Given the description of an element on the screen output the (x, y) to click on. 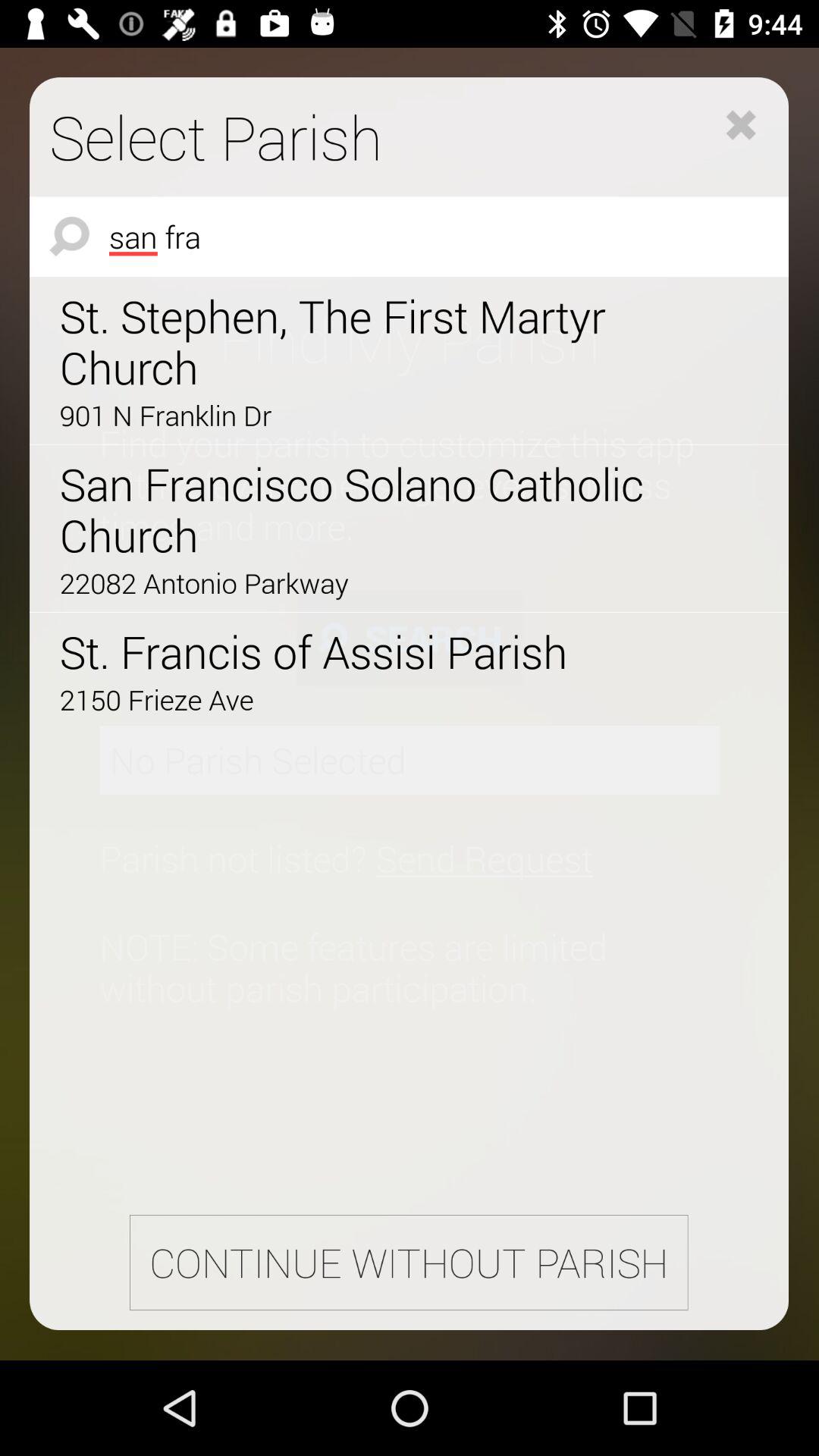
flip to san francisco solano (366, 509)
